Given the description of an element on the screen output the (x, y) to click on. 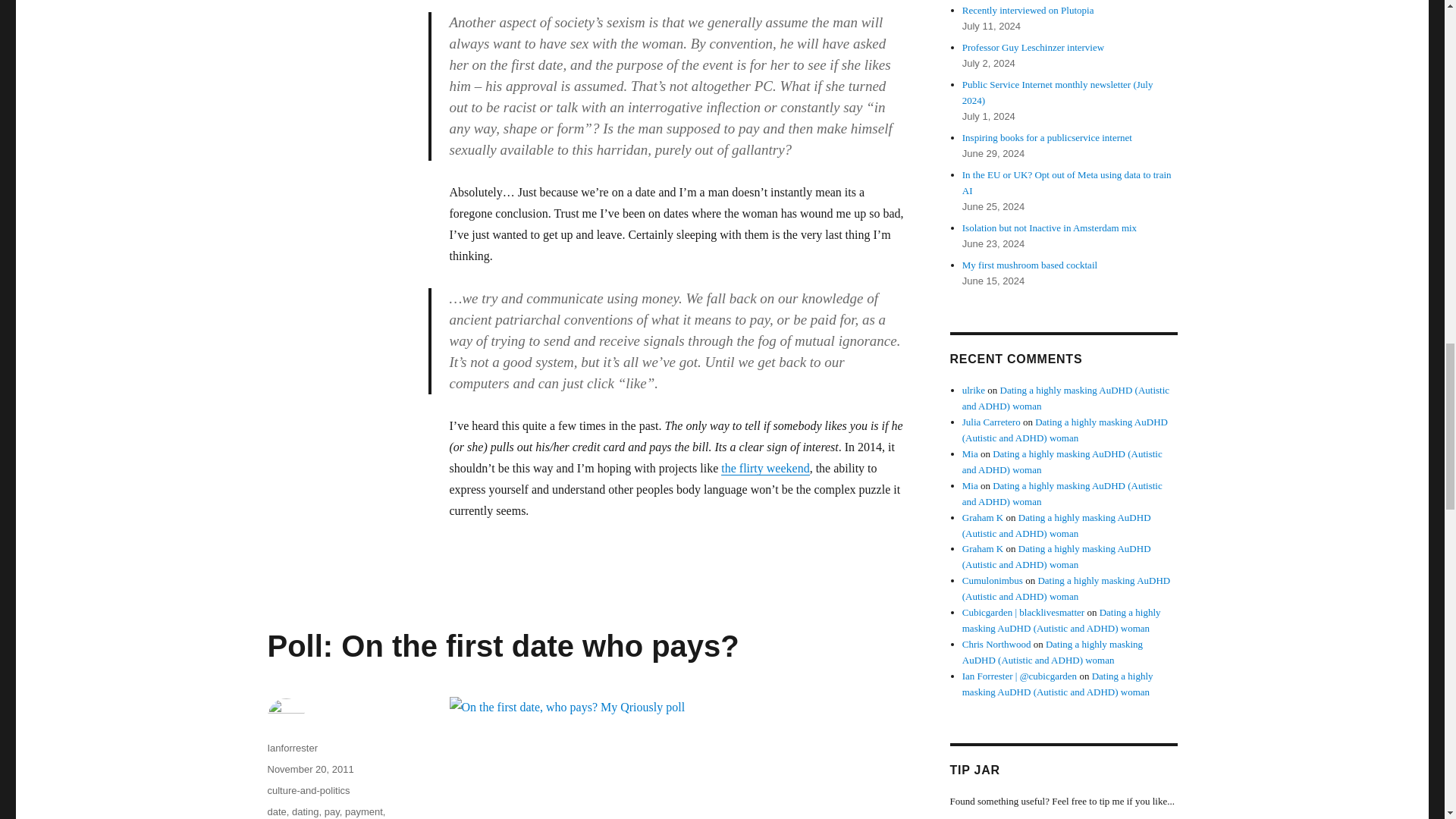
dating (305, 811)
date (275, 811)
November 20, 2011 (309, 768)
Ianforrester (291, 747)
payment (363, 811)
pay (331, 811)
the flirty weekend (764, 468)
culture-and-politics (307, 790)
Poll: On the first date who pays? (502, 645)
